Given the description of an element on the screen output the (x, y) to click on. 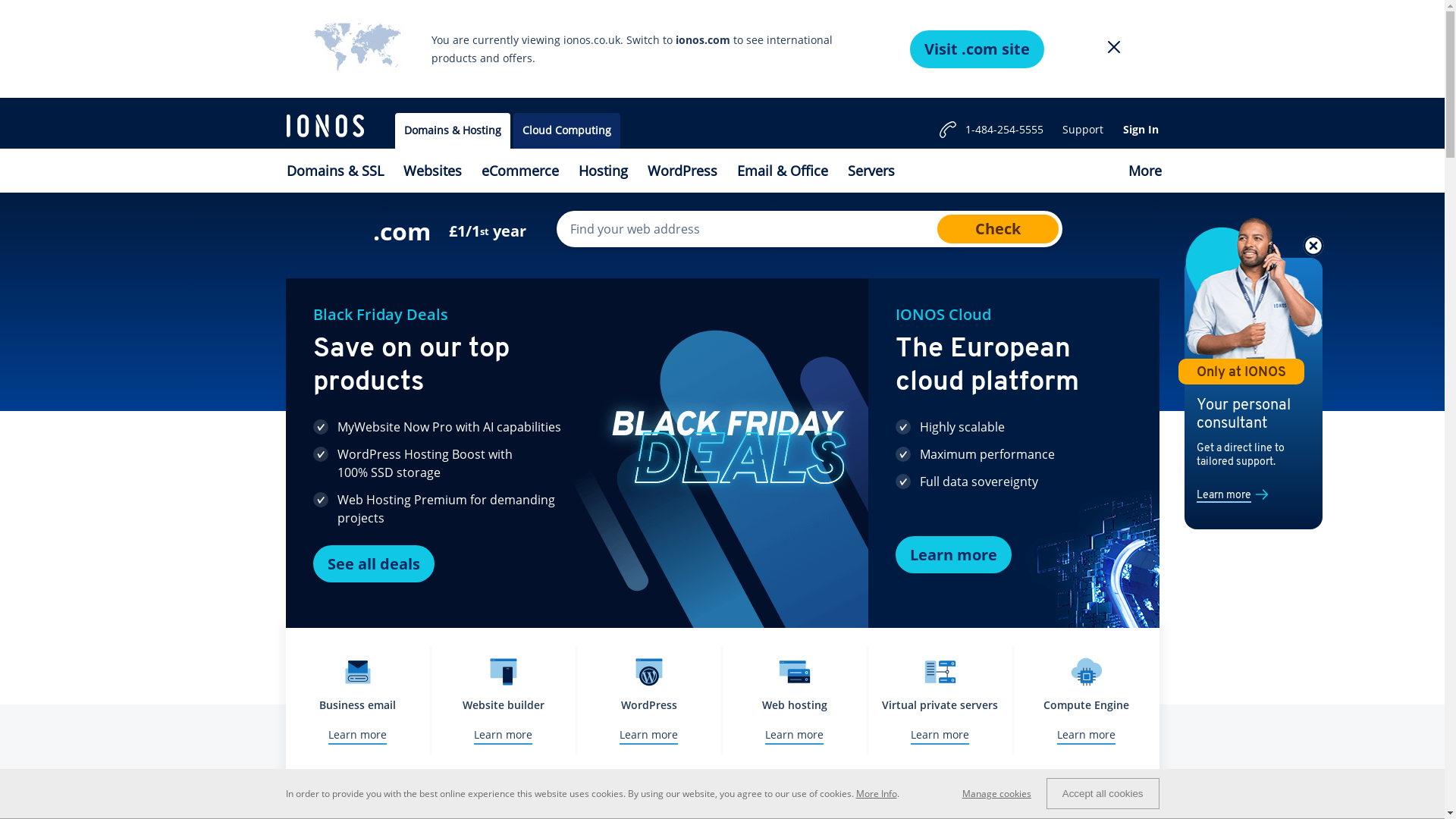
Check Element type: text (997, 228)
Cloud Computing Element type: text (565, 130)
More Element type: text (1143, 170)
Learn more Element type: text (952, 554)
WordPress Element type: text (681, 170)
See all deals Element type: text (372, 563)
Visit .com site Element type: text (977, 49)
Manage cookies Element type: text (1004, 793)
More Info Element type: text (875, 793)
Servers Element type: text (870, 170)
Email & Office Element type: text (781, 170)
Hosting Element type: text (602, 170)
Support Element type: text (1082, 129)
eCommerce Element type: text (519, 170)
Websites Element type: text (431, 170)
Sign In Element type: text (1140, 129)
Accept all cookies Element type: text (1102, 793)
Domains & SSL Element type: text (334, 170)
Learn more Element type: text (1223, 495)
